Given the description of an element on the screen output the (x, y) to click on. 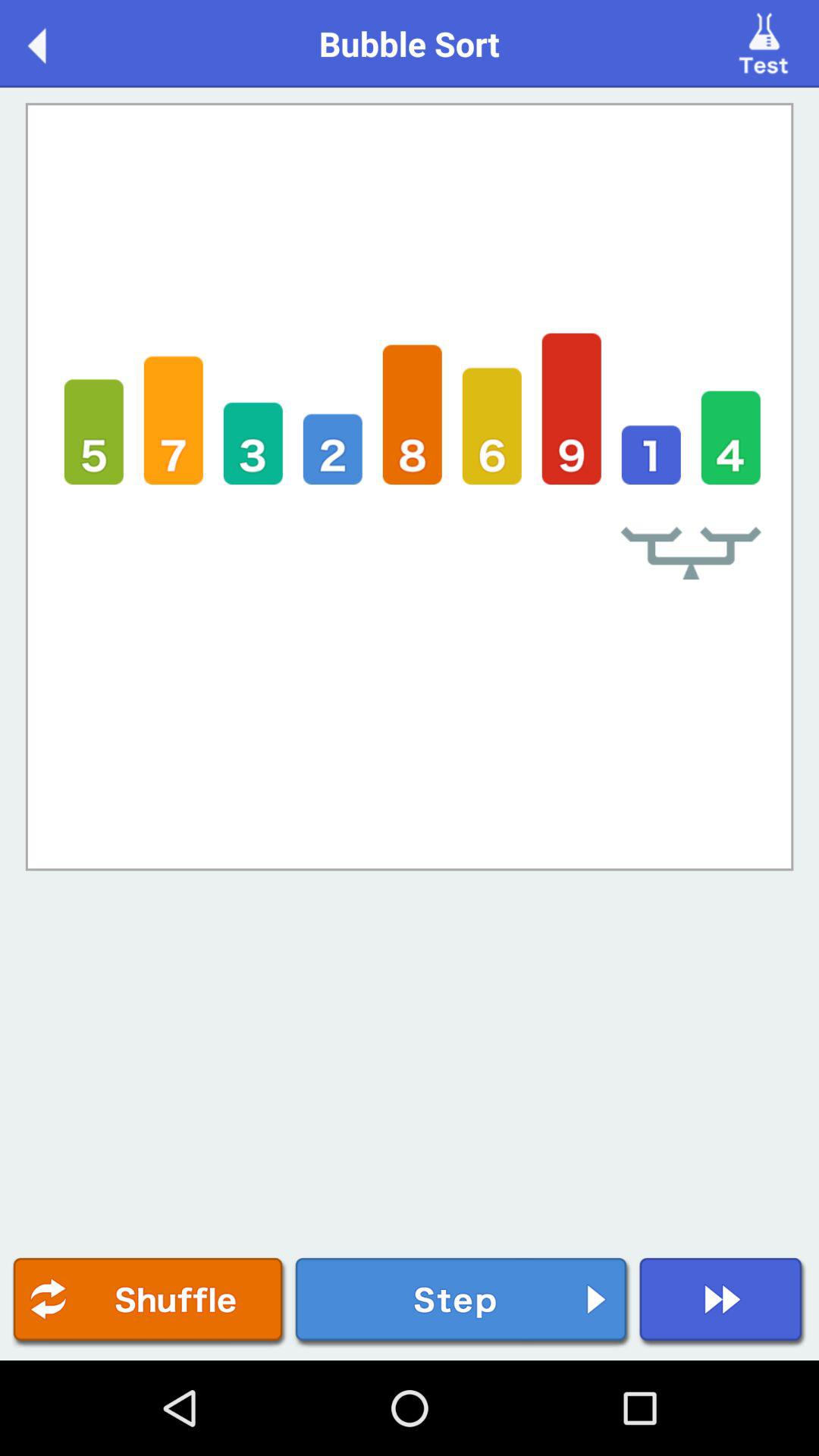
open the icon next to the bubble sort item (766, 42)
